Given the description of an element on the screen output the (x, y) to click on. 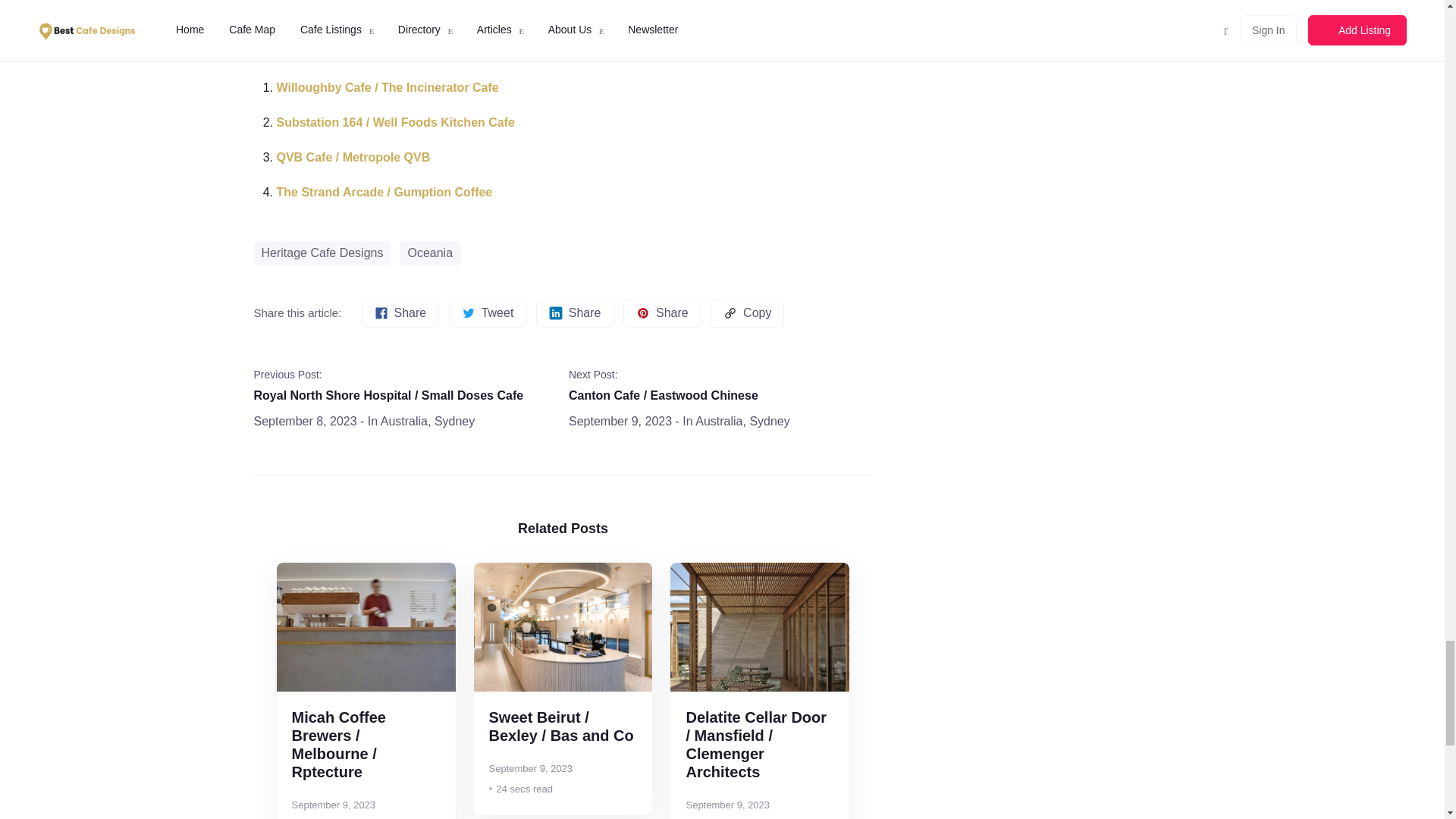
Copy to clipboard (747, 313)
